Given the description of an element on the screen output the (x, y) to click on. 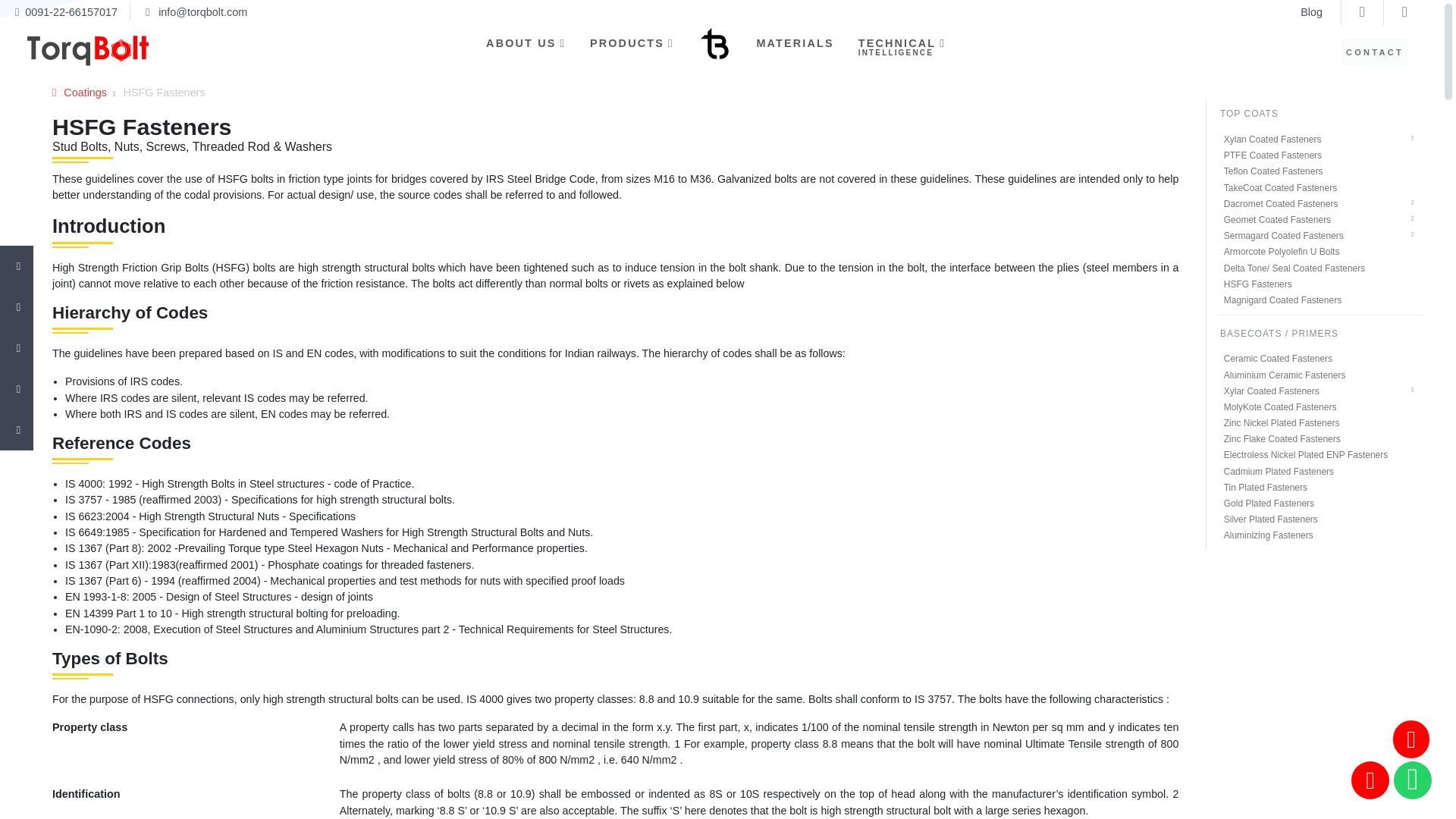
TorqBolt ligature (714, 43)
TorqBolt Logo (103, 51)
PRODUCTS (631, 44)
CONTACT (1374, 51)
0091-22-66157017 (70, 11)
MATERIALS (901, 53)
ABOUT US (794, 44)
